Given the description of an element on the screen output the (x, y) to click on. 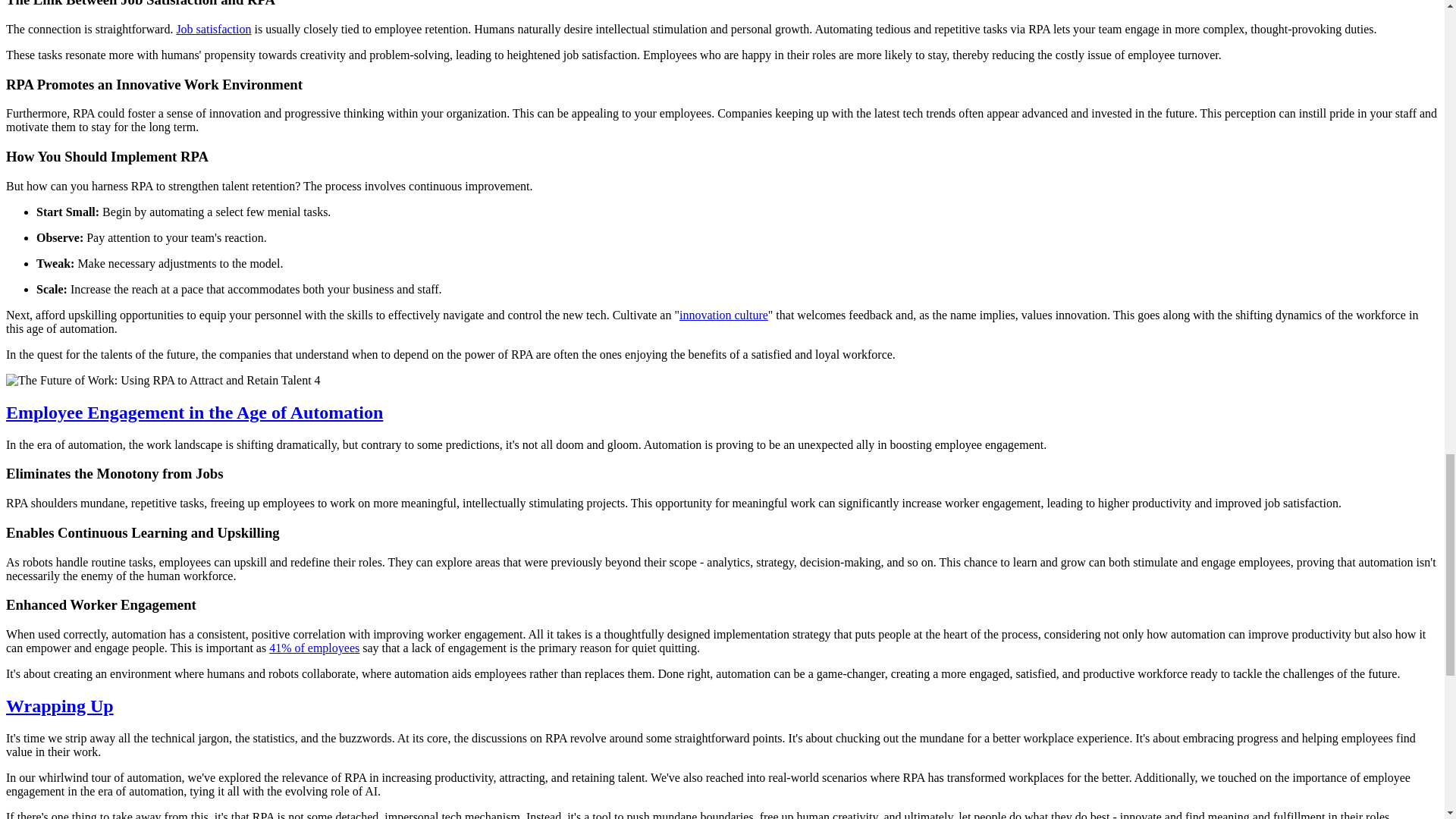
innovation culture (723, 314)
Employee Engagement in the Age of Automation (193, 412)
Job satisfaction (213, 29)
Wrapping Up (59, 705)
